Given the description of an element on the screen output the (x, y) to click on. 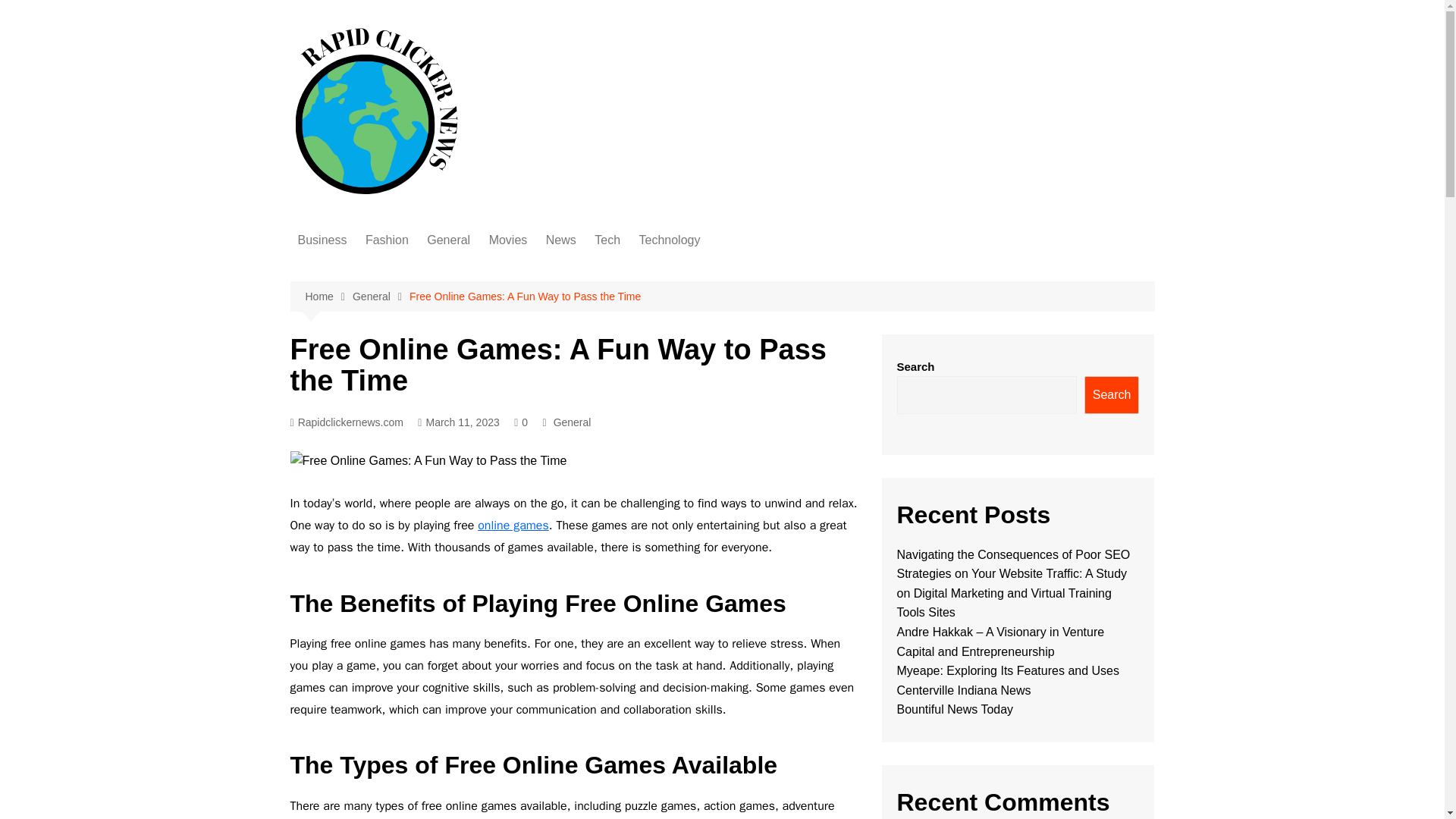
Fashion (387, 239)
online games (512, 525)
Free Online Games: A Fun Way to Pass the Time (524, 296)
Movies (508, 239)
March 11, 2023 (458, 422)
Technology (668, 239)
General (448, 239)
General (572, 422)
Business (321, 239)
News (560, 239)
Rapidclickernews.com (346, 422)
Tech (606, 239)
General (380, 296)
Home (328, 296)
